Given the description of an element on the screen output the (x, y) to click on. 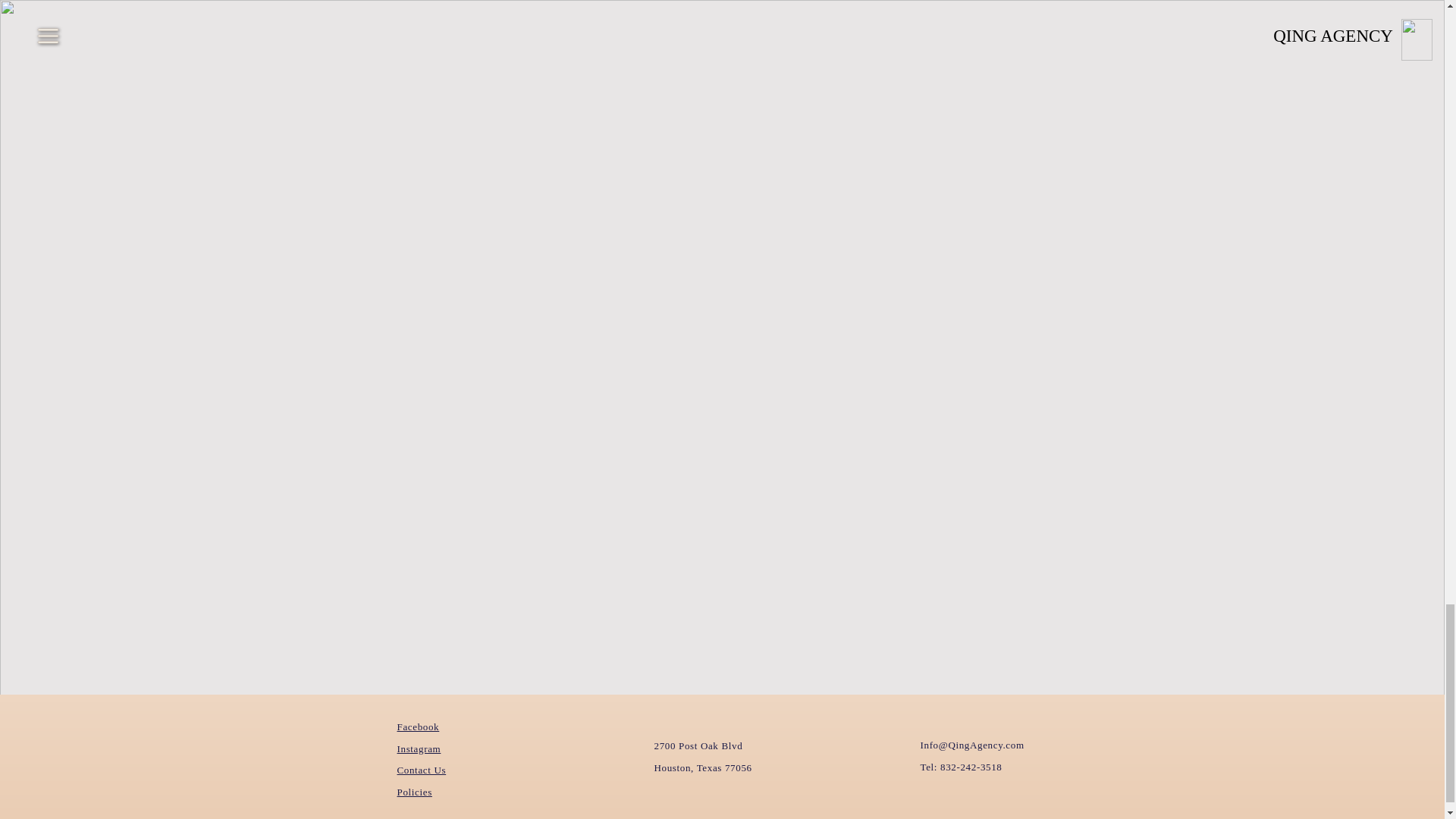
Facebook (418, 726)
Policies (414, 791)
Contact Us (421, 769)
Instagram (419, 748)
